Given the description of an element on the screen output the (x, y) to click on. 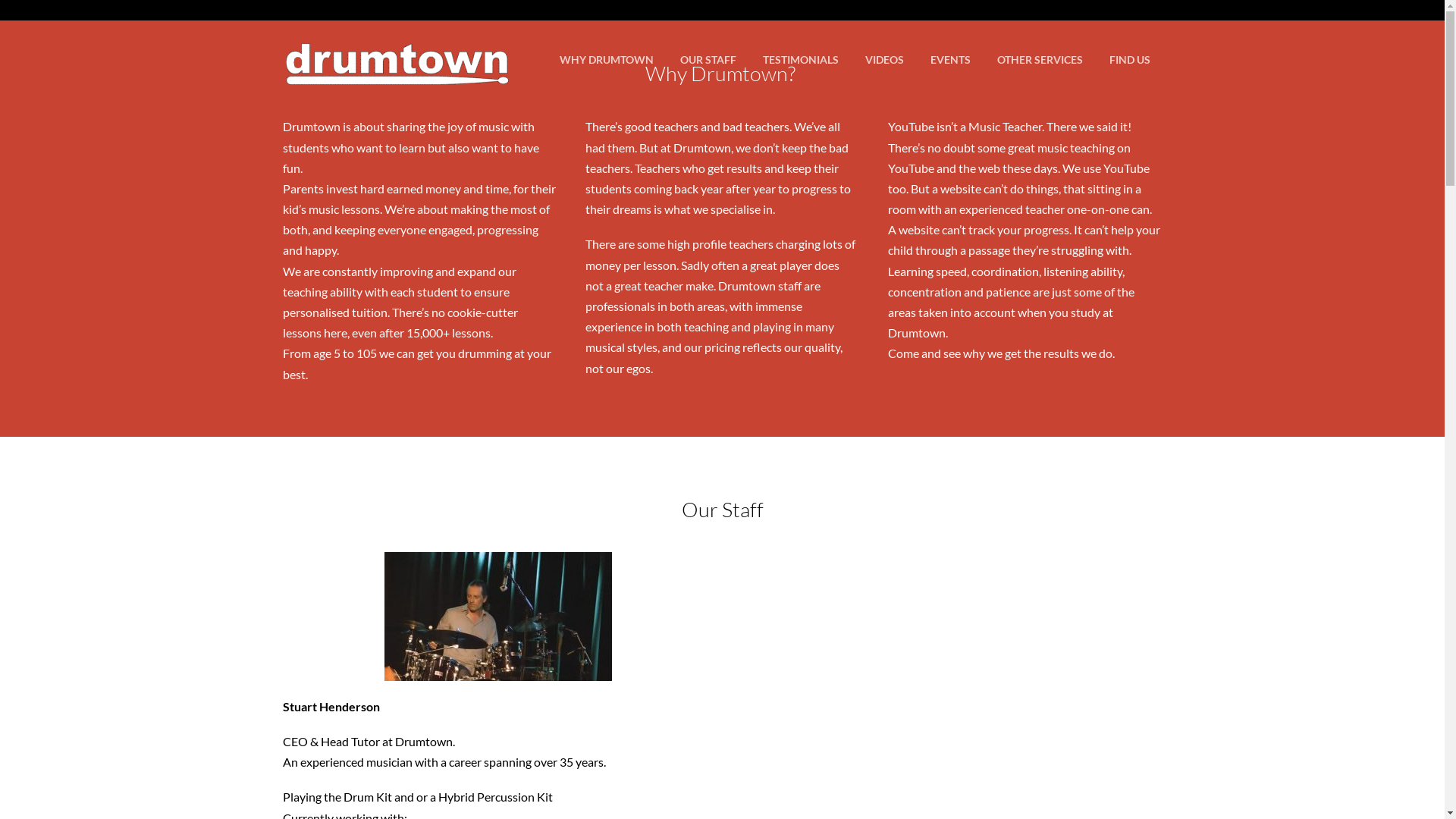
Drumtown Element type: hover (395, 77)
OUR STAFF Element type: text (707, 59)
WHY DRUMTOWN Element type: text (606, 59)
VIDEOS Element type: text (883, 59)
FIND US Element type: text (1128, 59)
EVENTS Element type: text (949, 59)
OTHER SERVICES Element type: text (1039, 59)
Drumtown Element type: hover (395, 51)
TESTIMONIALS Element type: text (800, 59)
